Given the description of an element on the screen output the (x, y) to click on. 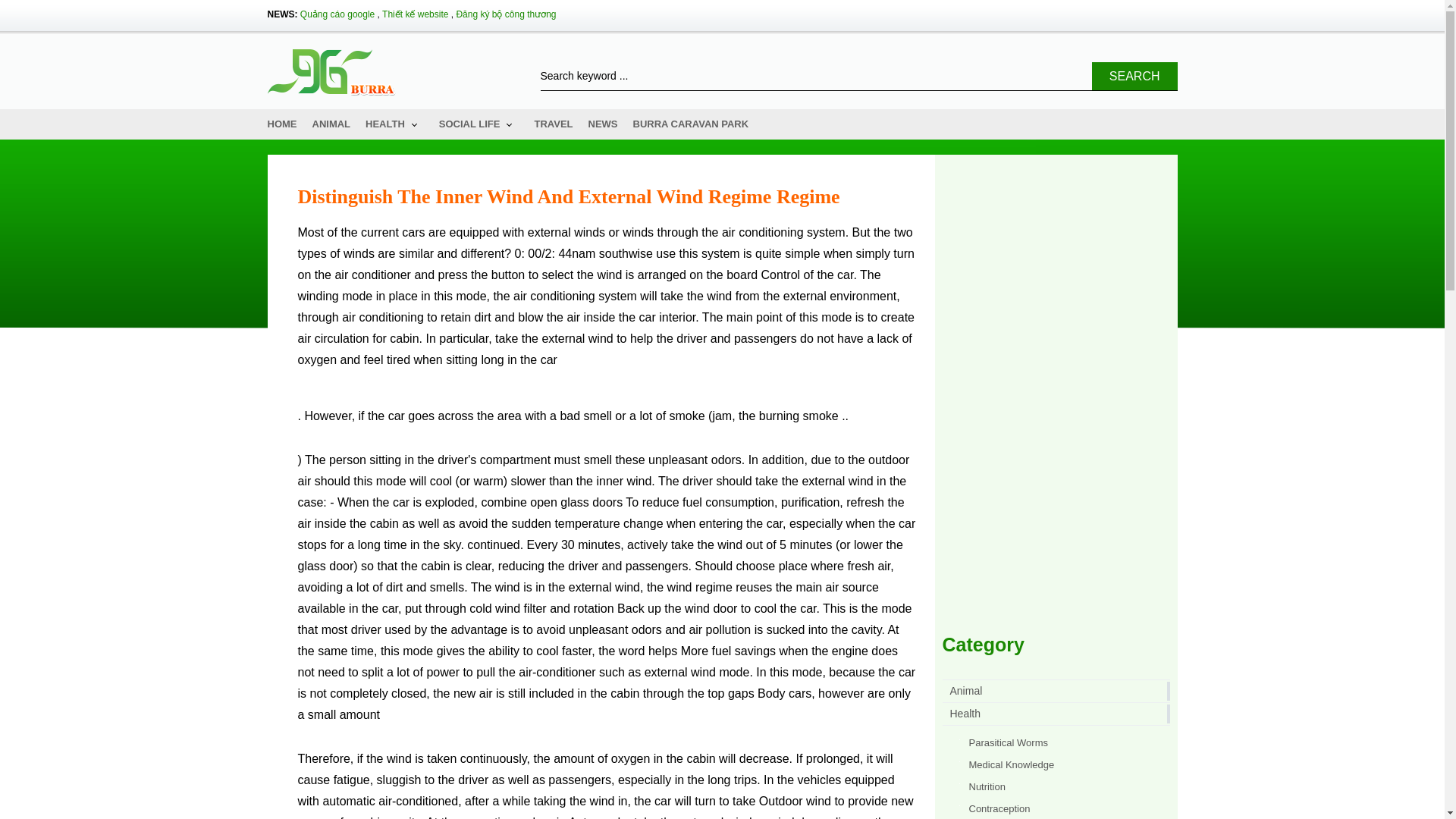
BURRA CARAVAN PARK (691, 123)
ANIMAL (331, 123)
SOCIAL LIFE (479, 123)
NEWS (602, 123)
HOME (281, 123)
SEARCH (1134, 76)
HEALTH (394, 123)
TRAVEL (553, 123)
